Given the description of an element on the screen output the (x, y) to click on. 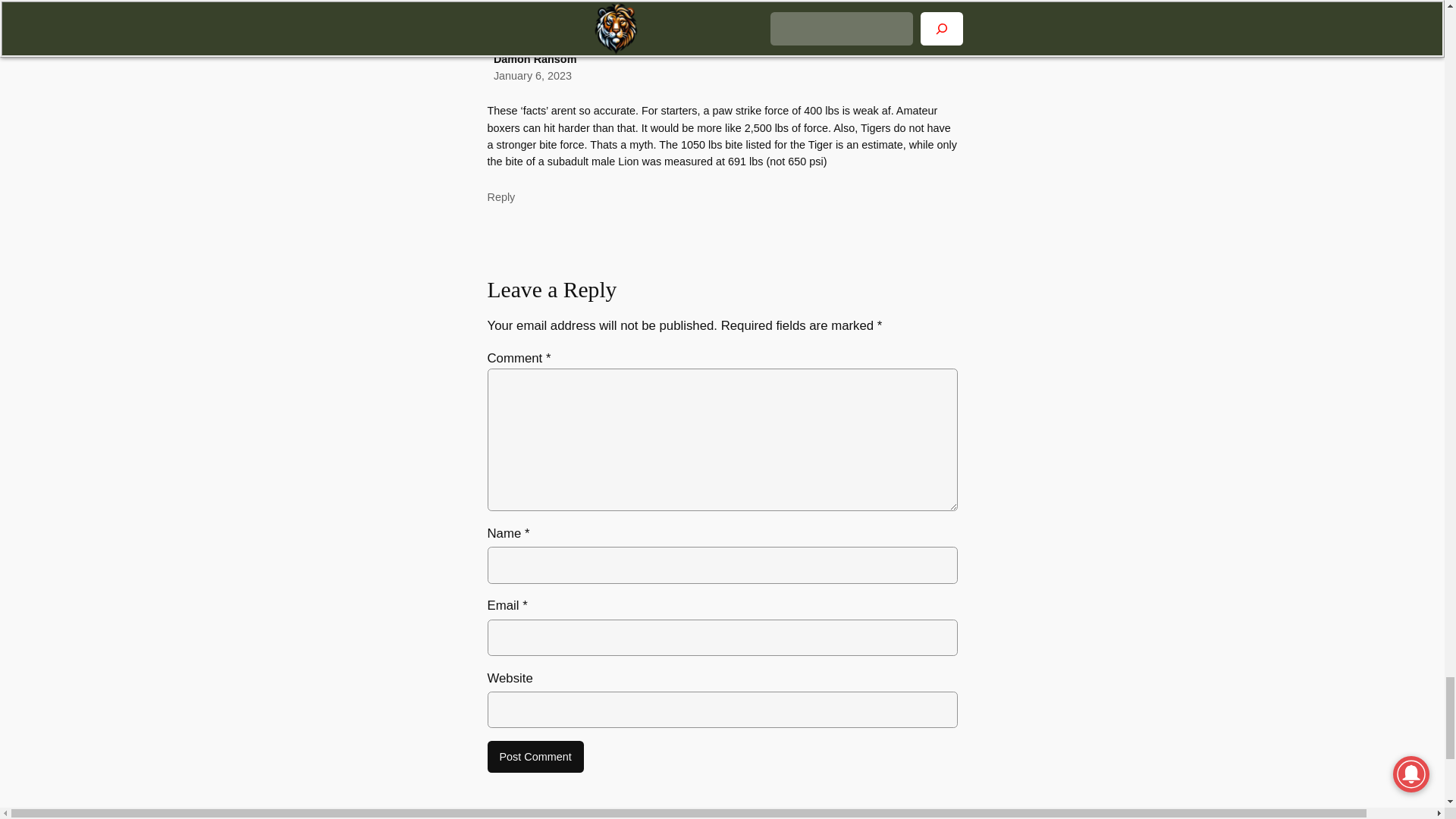
Post Comment (534, 757)
